Given the description of an element on the screen output the (x, y) to click on. 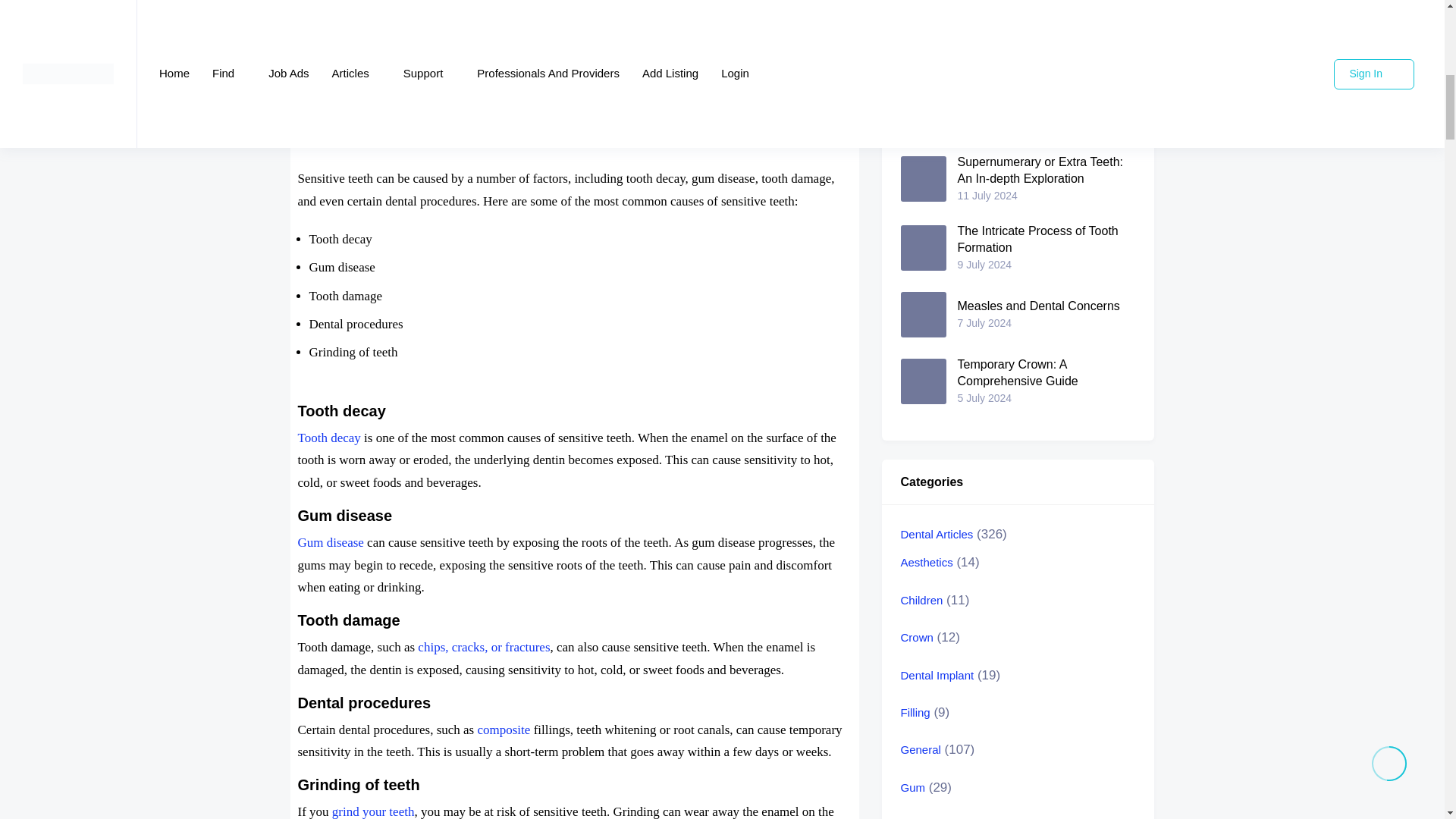
chips, cracks, or fractures (483, 646)
composite (503, 729)
grind your teeth (372, 811)
Gum disease (329, 542)
Tooth decay (328, 437)
